Given the description of an element on the screen output the (x, y) to click on. 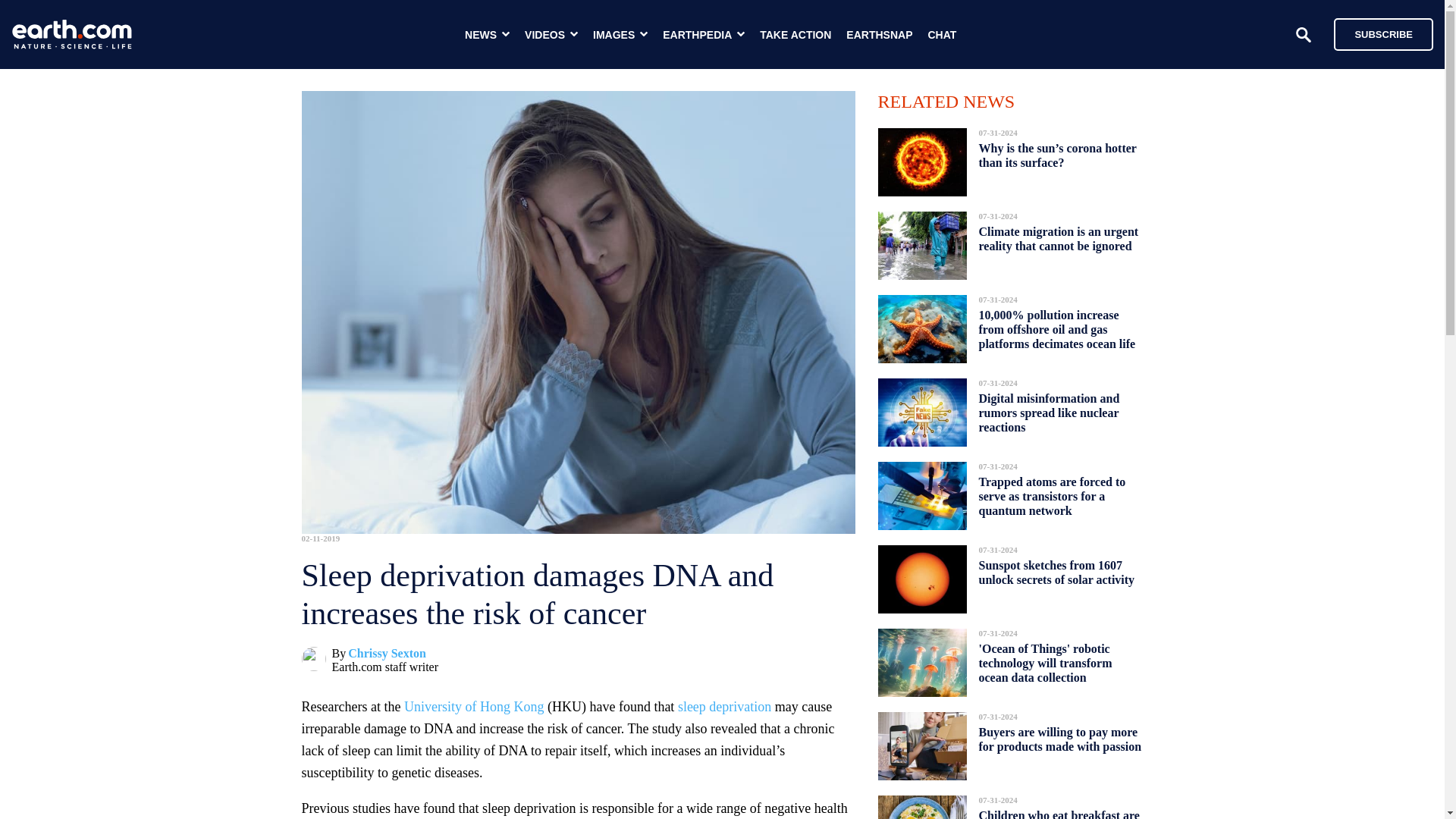
Chrissy Sexton (386, 653)
Sunspot sketches from 1607 unlock secrets of solar activity (1056, 572)
Children who eat breakfast are happier in life (1058, 810)
University of Hong Kong (473, 706)
SUBSCRIBE (1375, 33)
EARTHSNAP (878, 34)
sleep deprivation (724, 706)
TAKE ACTION (795, 34)
SUBSCRIBE (1382, 34)
CHAT (941, 34)
